Given the description of an element on the screen output the (x, y) to click on. 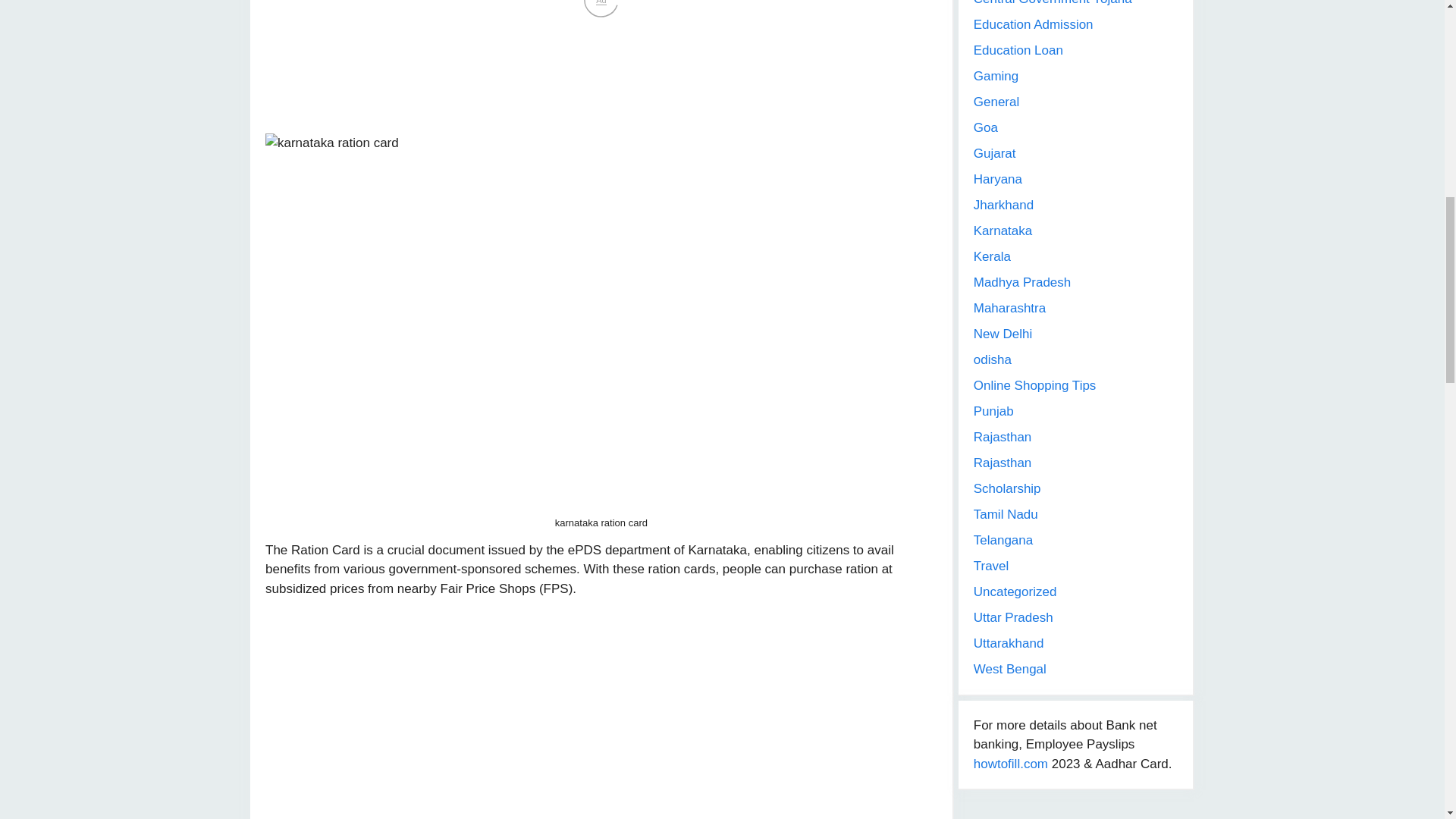
odisha (992, 359)
Education Loan (1018, 50)
General (996, 101)
Punjab (993, 411)
Gaming (996, 75)
Gujarat (995, 153)
Central Government Yojana (1053, 2)
Madhya Pradesh (1022, 282)
Goa (985, 127)
Kerala (992, 256)
Jharkhand (1003, 205)
Online Shopping Tips (1035, 385)
Maharashtra (1009, 308)
Karnataka (1003, 230)
Haryana (998, 178)
